Given the description of an element on the screen output the (x, y) to click on. 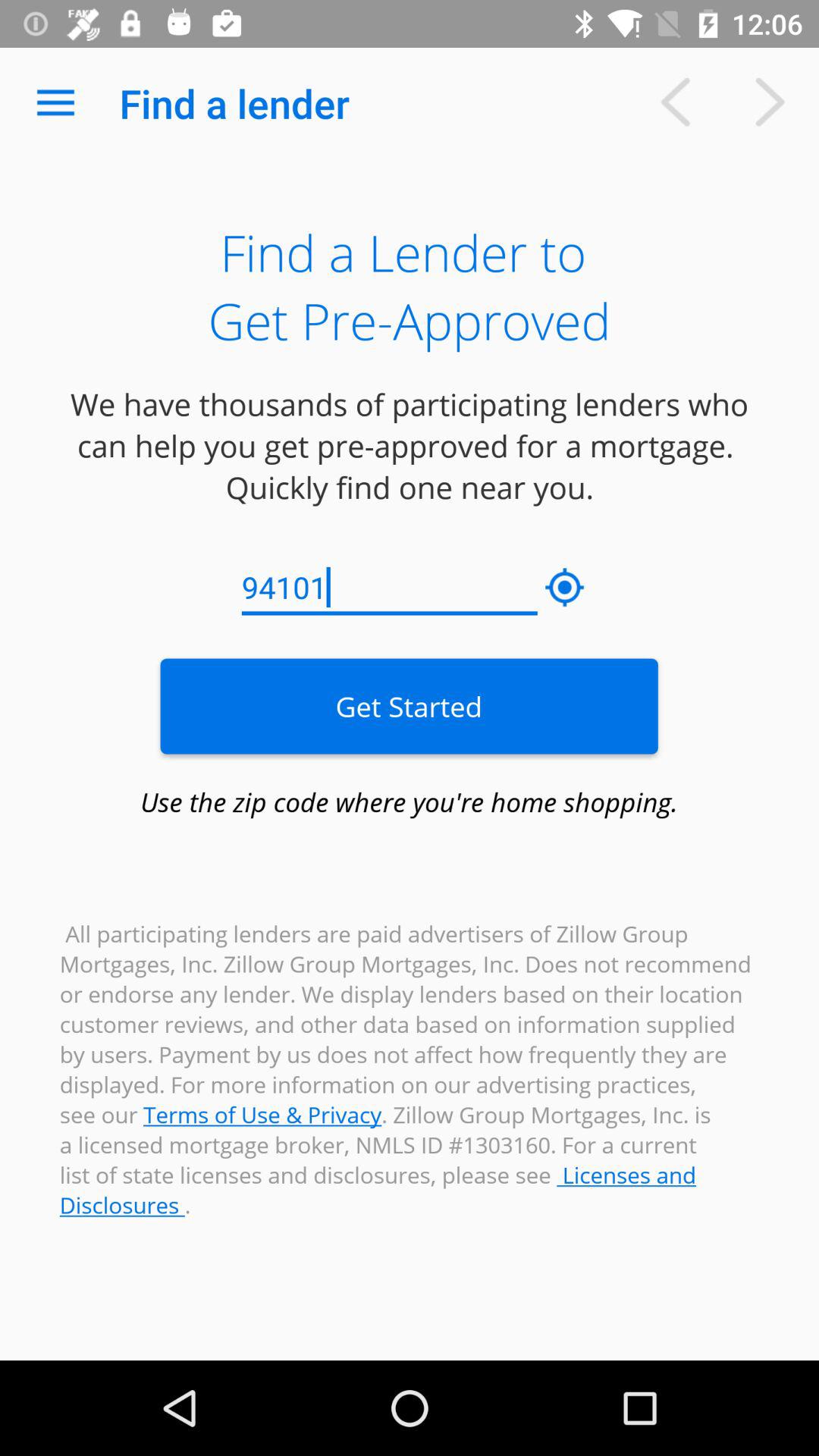
select icon below the we have thousands (565, 587)
